Given the description of an element on the screen output the (x, y) to click on. 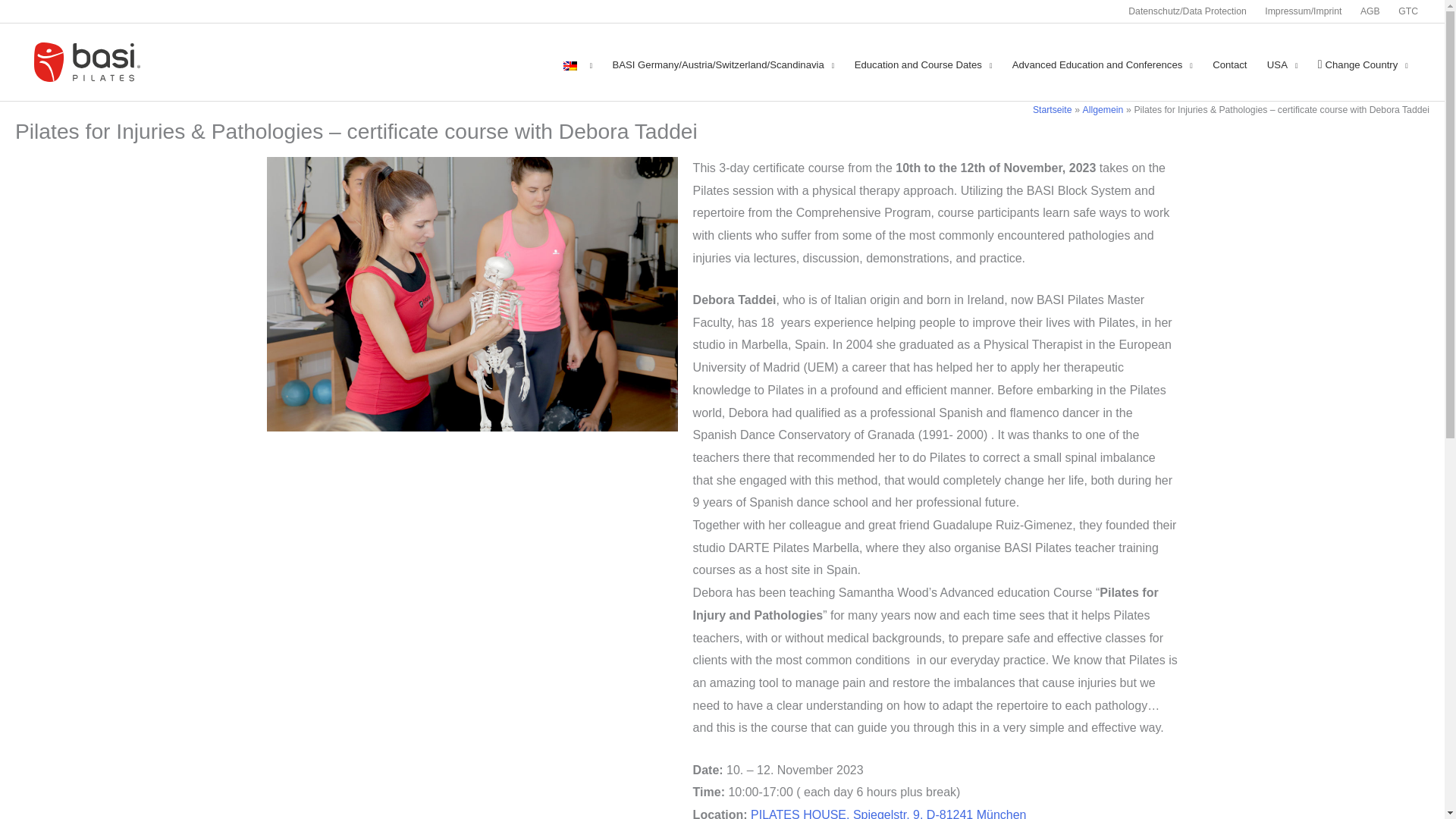
Change Country (1362, 65)
AGB (1370, 11)
USA (1282, 65)
GTC (1403, 11)
Advanced Education and Conferences (1102, 65)
Contact (1229, 65)
Education and Course Dates (923, 65)
